Given the description of an element on the screen output the (x, y) to click on. 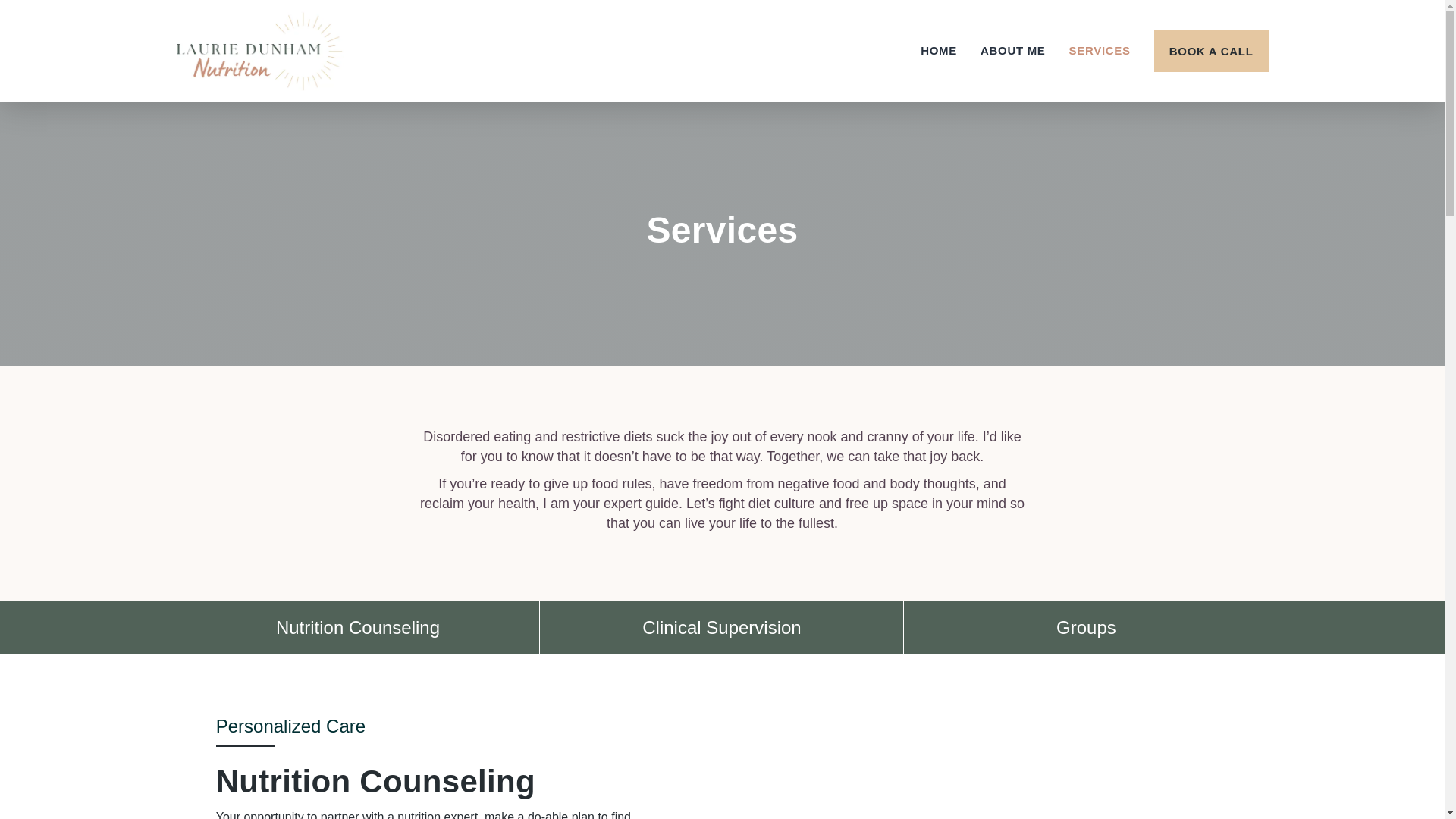
ABOUT ME (1012, 50)
BOOK A CALL (1211, 51)
SERVICES (1099, 50)
